Given the description of an element on the screen output the (x, y) to click on. 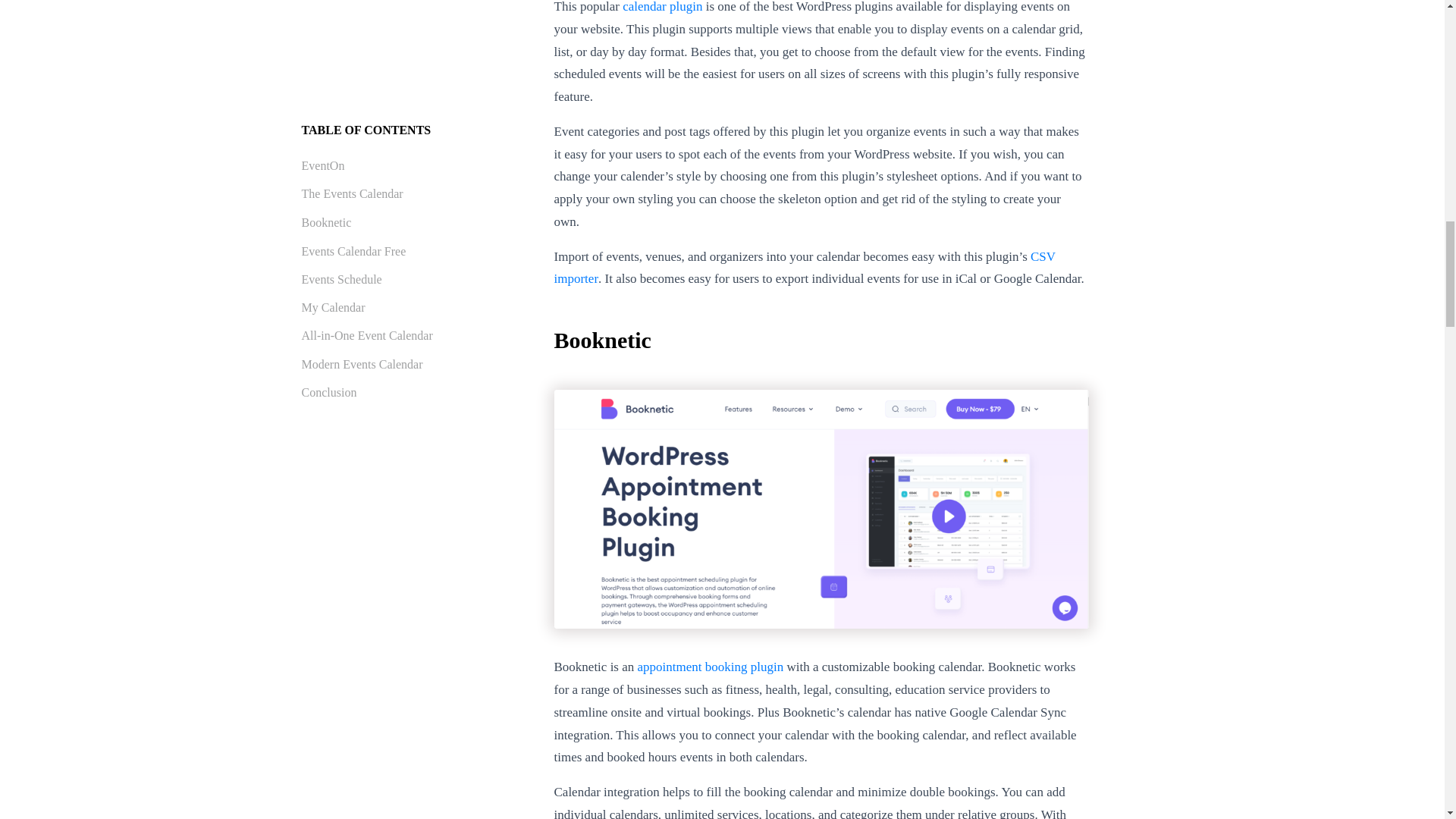
calendar plugin (662, 6)
CSV importer (803, 267)
appointment booking plugin (710, 667)
